Given the description of an element on the screen output the (x, y) to click on. 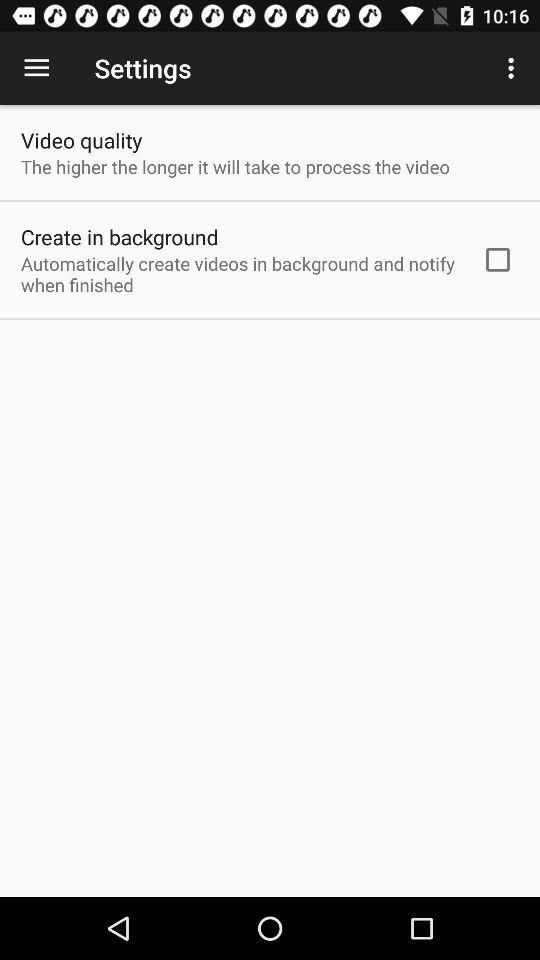
jump to the video quality (81, 139)
